Given the description of an element on the screen output the (x, y) to click on. 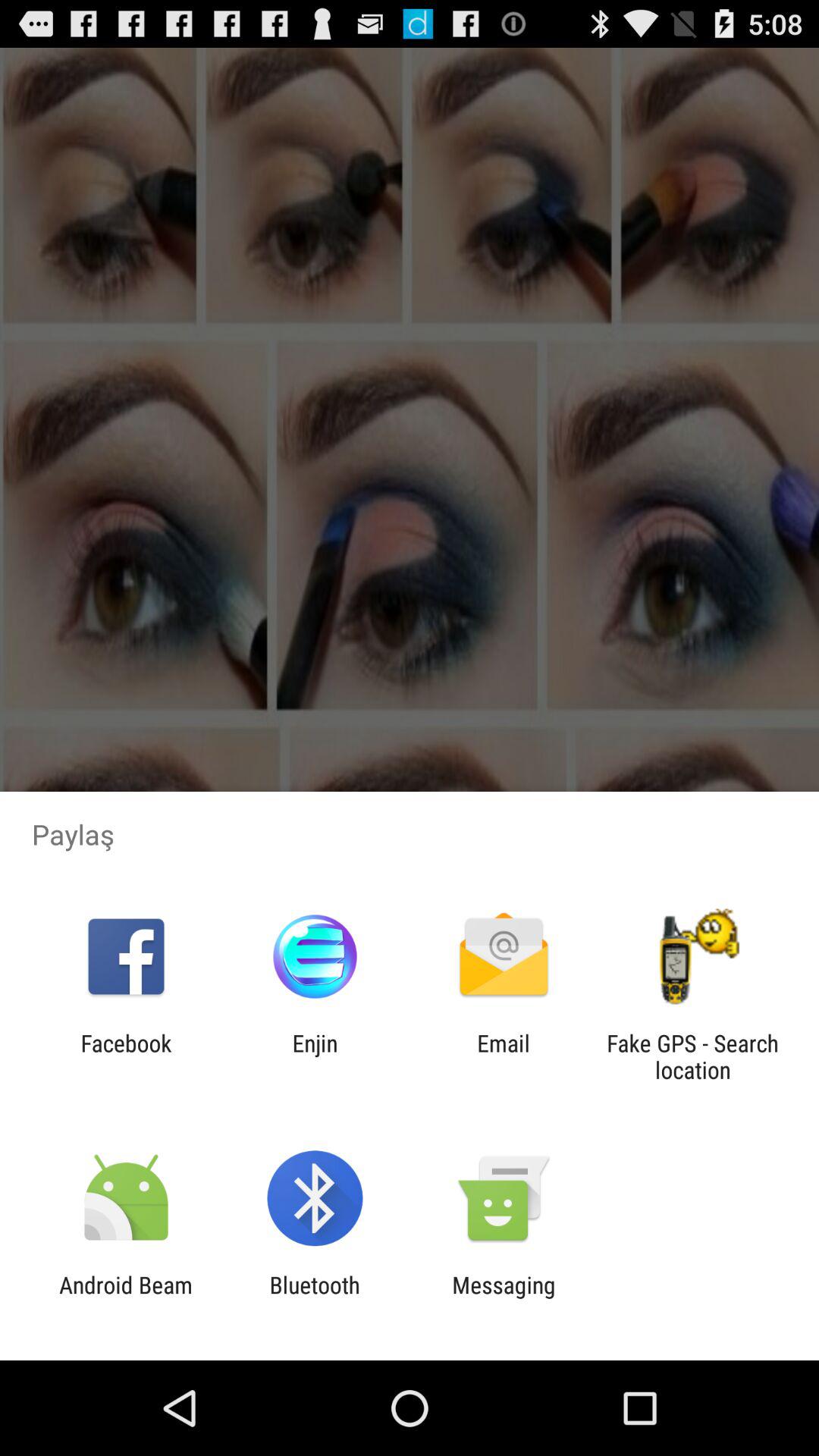
click email icon (503, 1056)
